Given the description of an element on the screen output the (x, y) to click on. 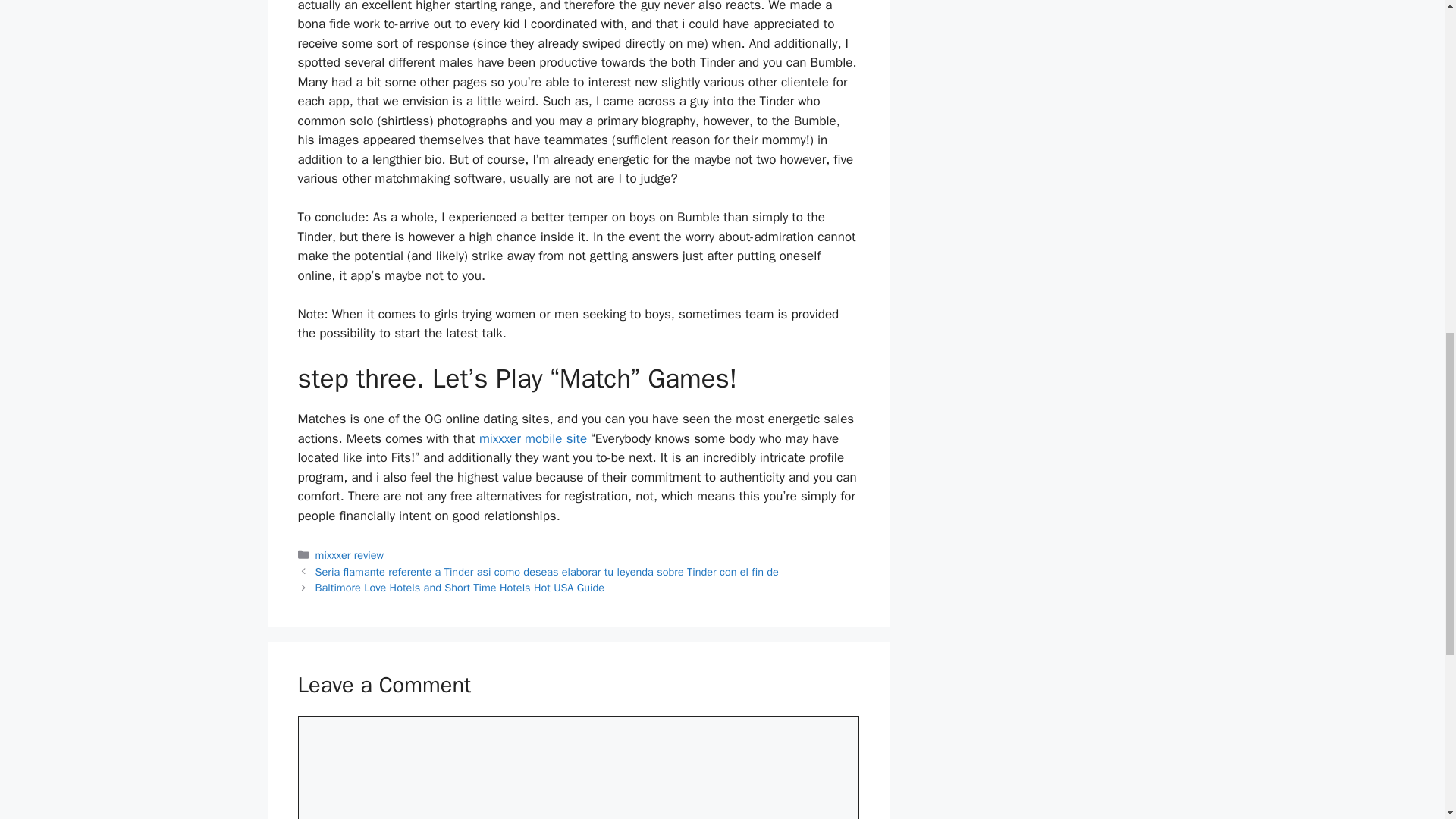
Baltimore Love Hotels and Short Time Hotels Hot USA Guide (459, 587)
mixxxer mobile site (532, 438)
mixxxer review (349, 554)
